Given the description of an element on the screen output the (x, y) to click on. 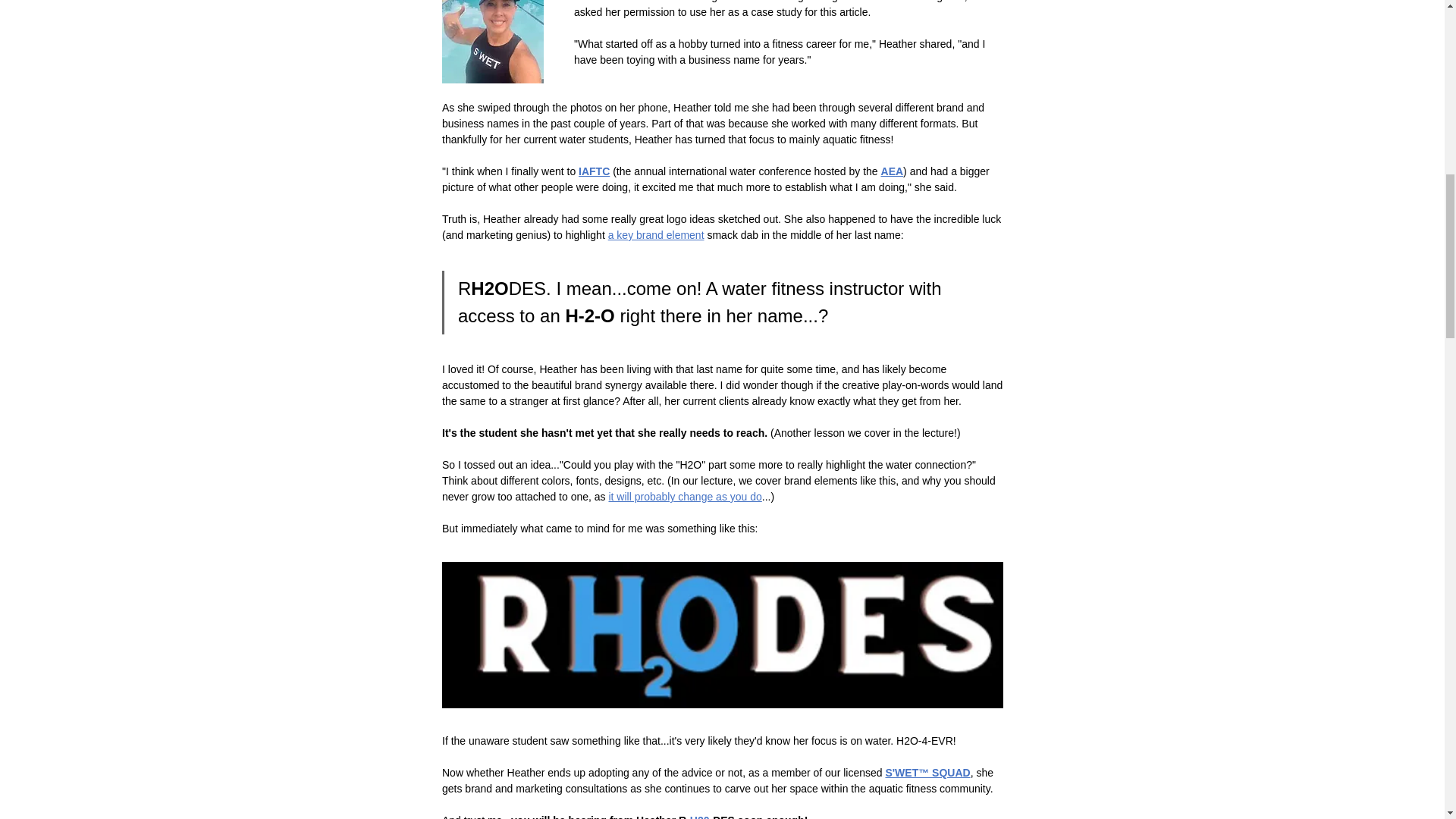
IAFTC (594, 171)
